Given the description of an element on the screen output the (x, y) to click on. 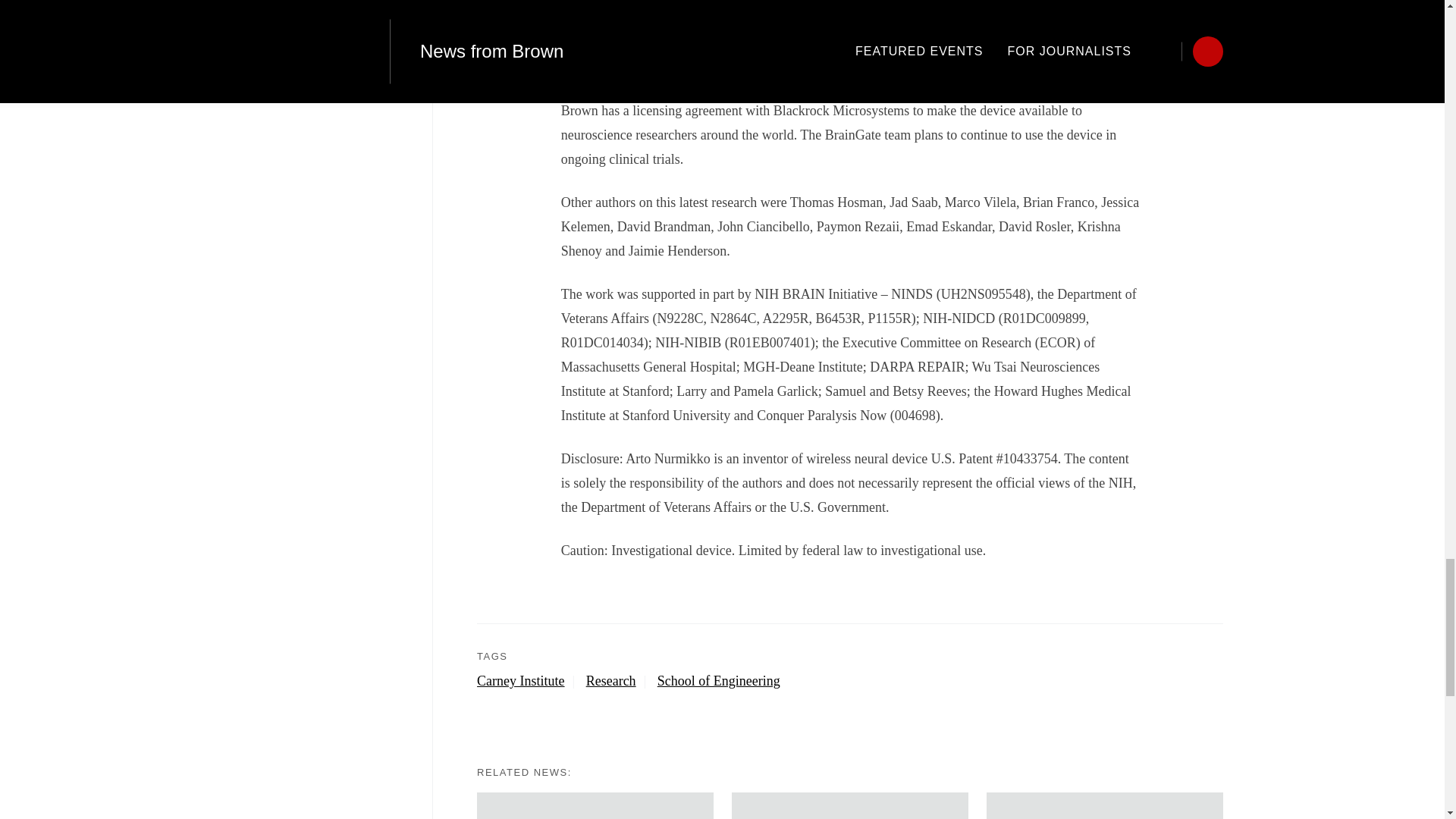
Research (619, 680)
Carney Institute (529, 680)
School of Engineering (719, 680)
